Given the description of an element on the screen output the (x, y) to click on. 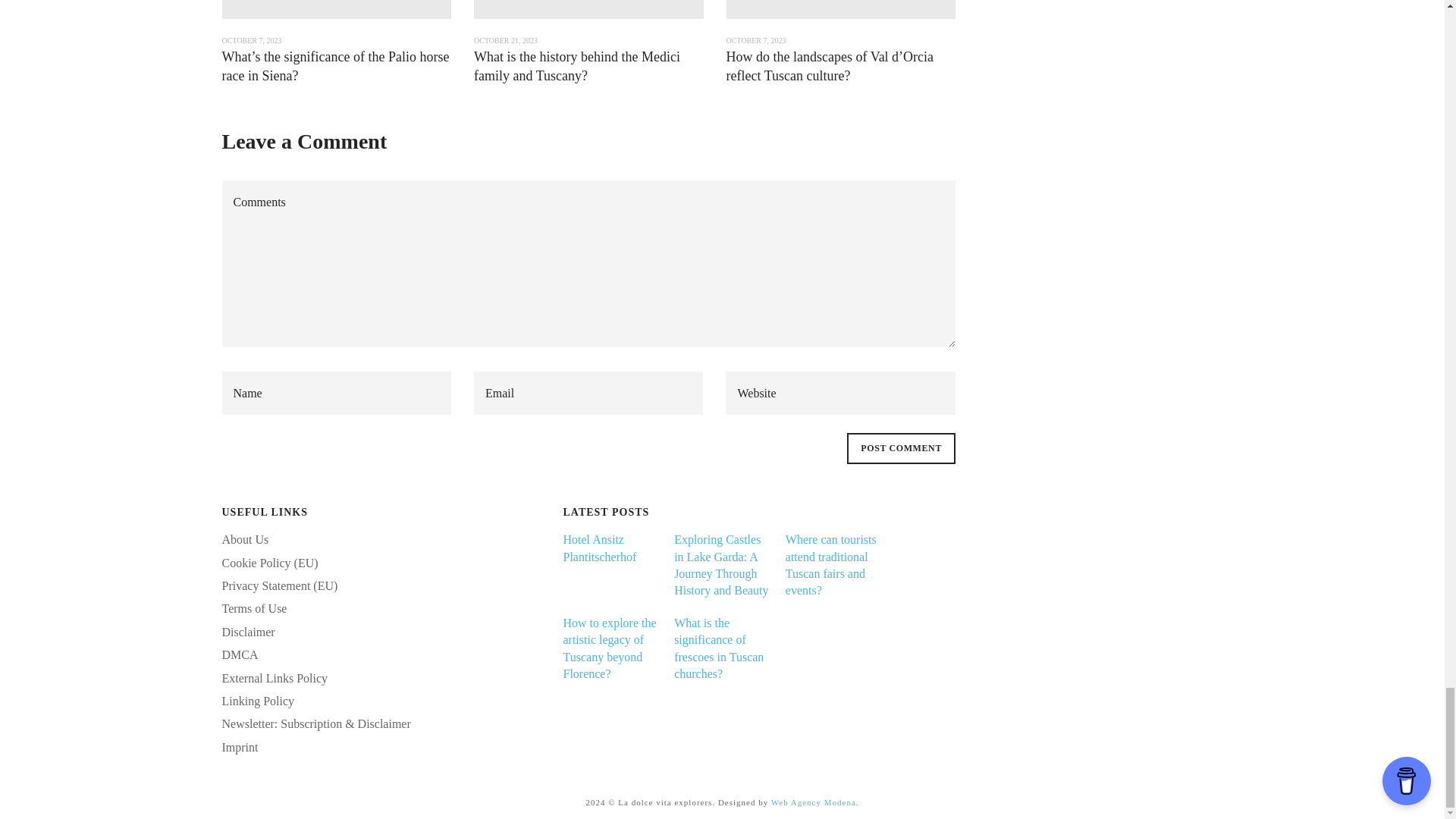
Post Comment (901, 448)
What is the history behind the Medici family and Tuscany? (576, 66)
